Given the description of an element on the screen output the (x, y) to click on. 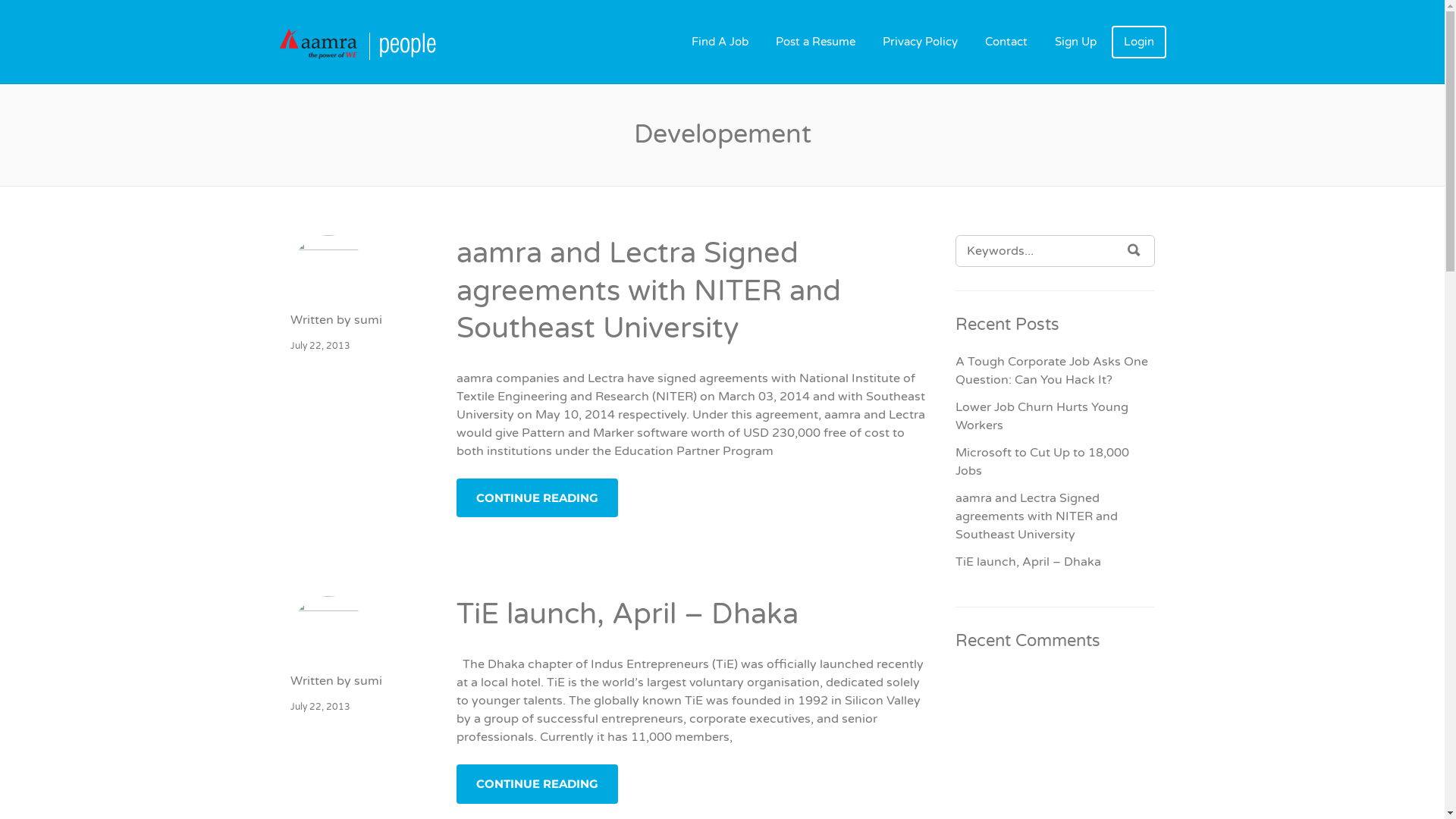
Lower Job Churn Hurts Young Workers Element type: text (1041, 416)
Login Element type: text (1138, 41)
sumi Element type: text (367, 680)
Privacy Policy Element type: text (919, 41)
Post a Resume Element type: text (814, 41)
PEOPLE.AAMRA.COM.BD Element type: text (400, 41)
CONTINUE READING Element type: text (537, 497)
July 22, 2013 Element type: text (319, 706)
CONTINUE READING Element type: text (537, 783)
Sign Up Element type: text (1074, 41)
Microsoft to Cut Up to 18,000 Jobs Element type: text (1042, 461)
A Tough Corporate Job Asks One Question: Can You Hack It? Element type: text (1051, 370)
July 22, 2013 Element type: text (319, 345)
sumi Element type: text (367, 319)
Find A Job Element type: text (719, 41)
SEARCH Element type: text (1133, 250)
Contact Element type: text (1005, 41)
